Given the description of an element on the screen output the (x, y) to click on. 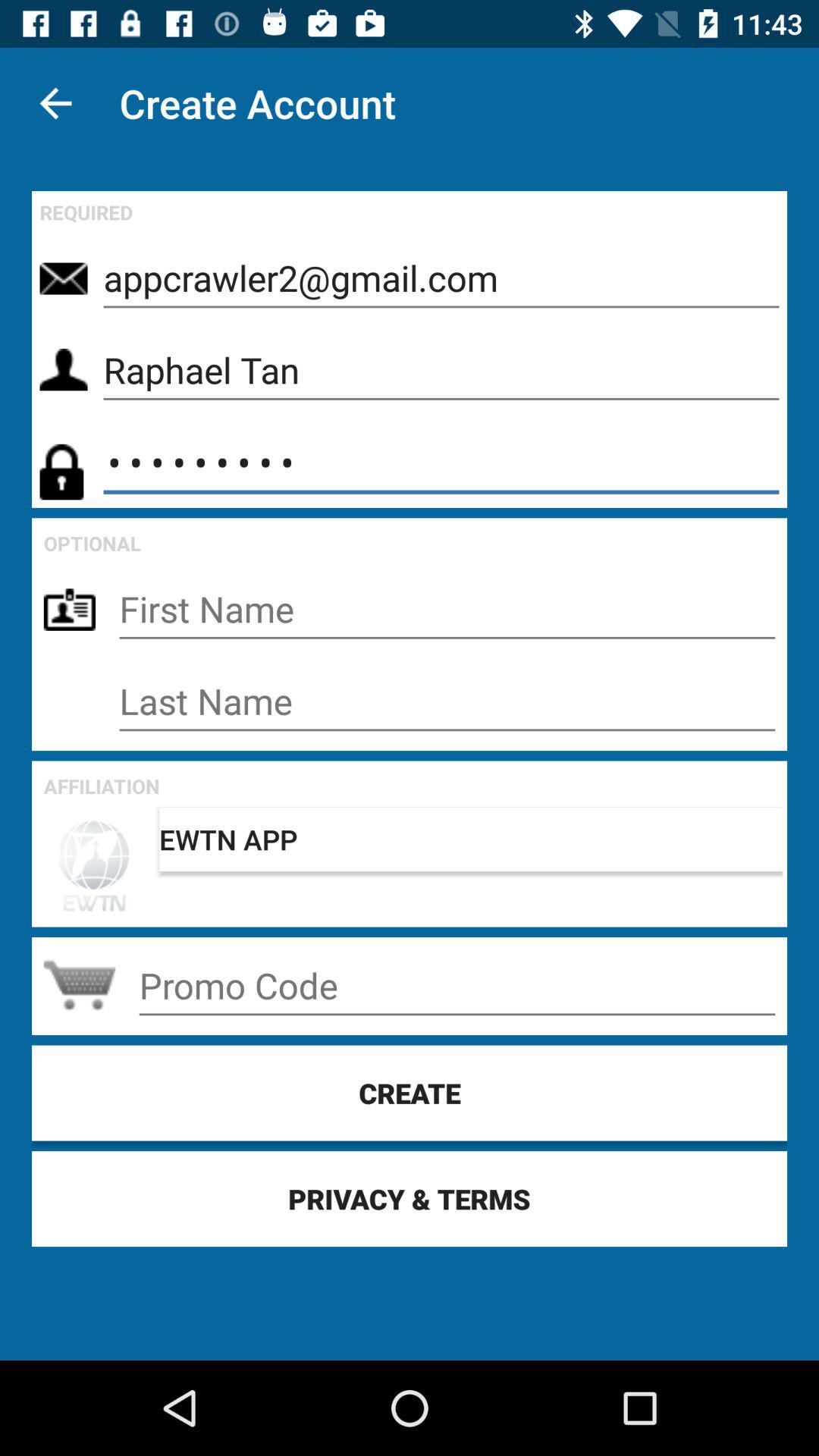
enter promo code (457, 986)
